Given the description of an element on the screen output the (x, y) to click on. 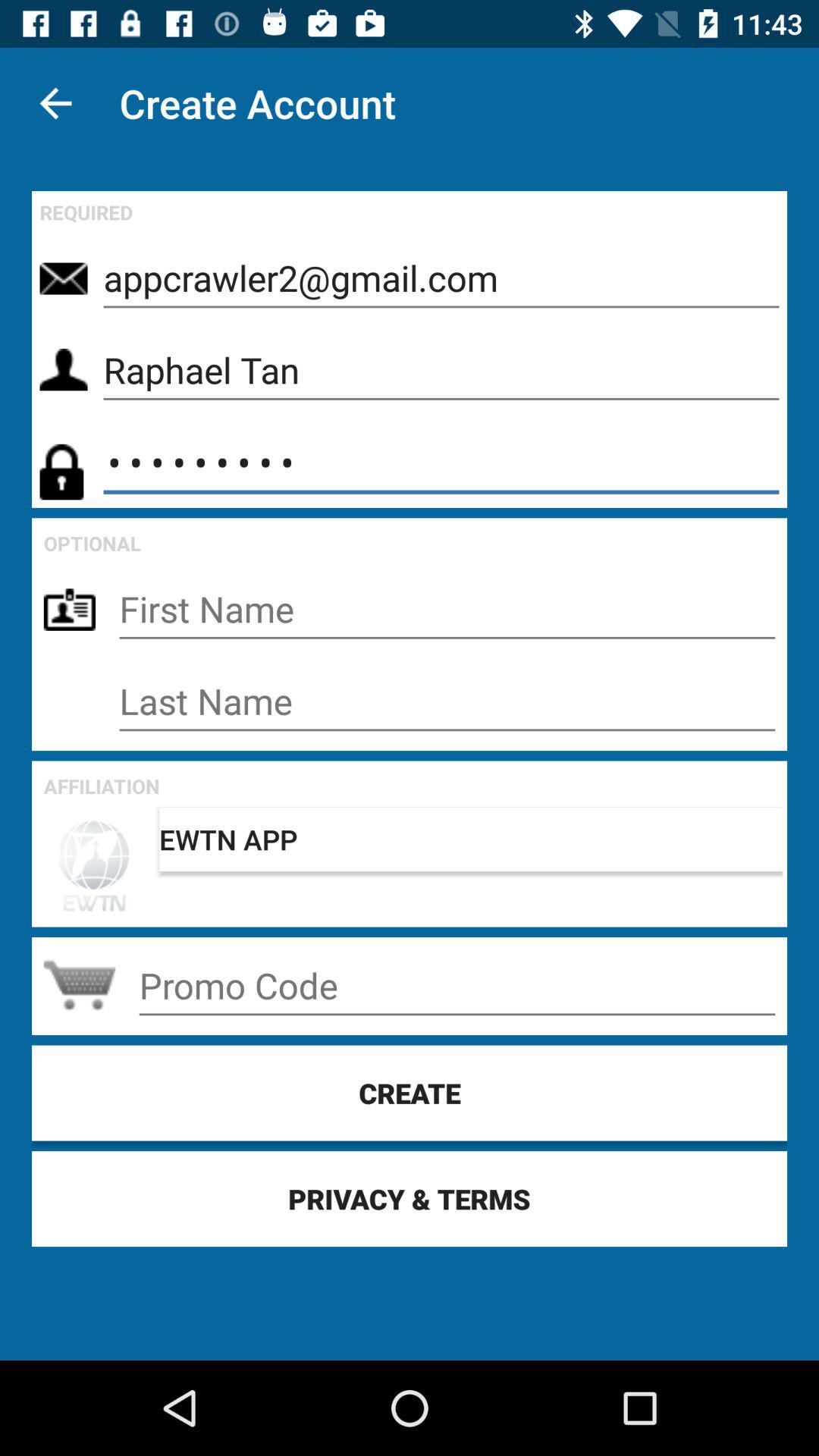
enter promo code (457, 986)
